Given the description of an element on the screen output the (x, y) to click on. 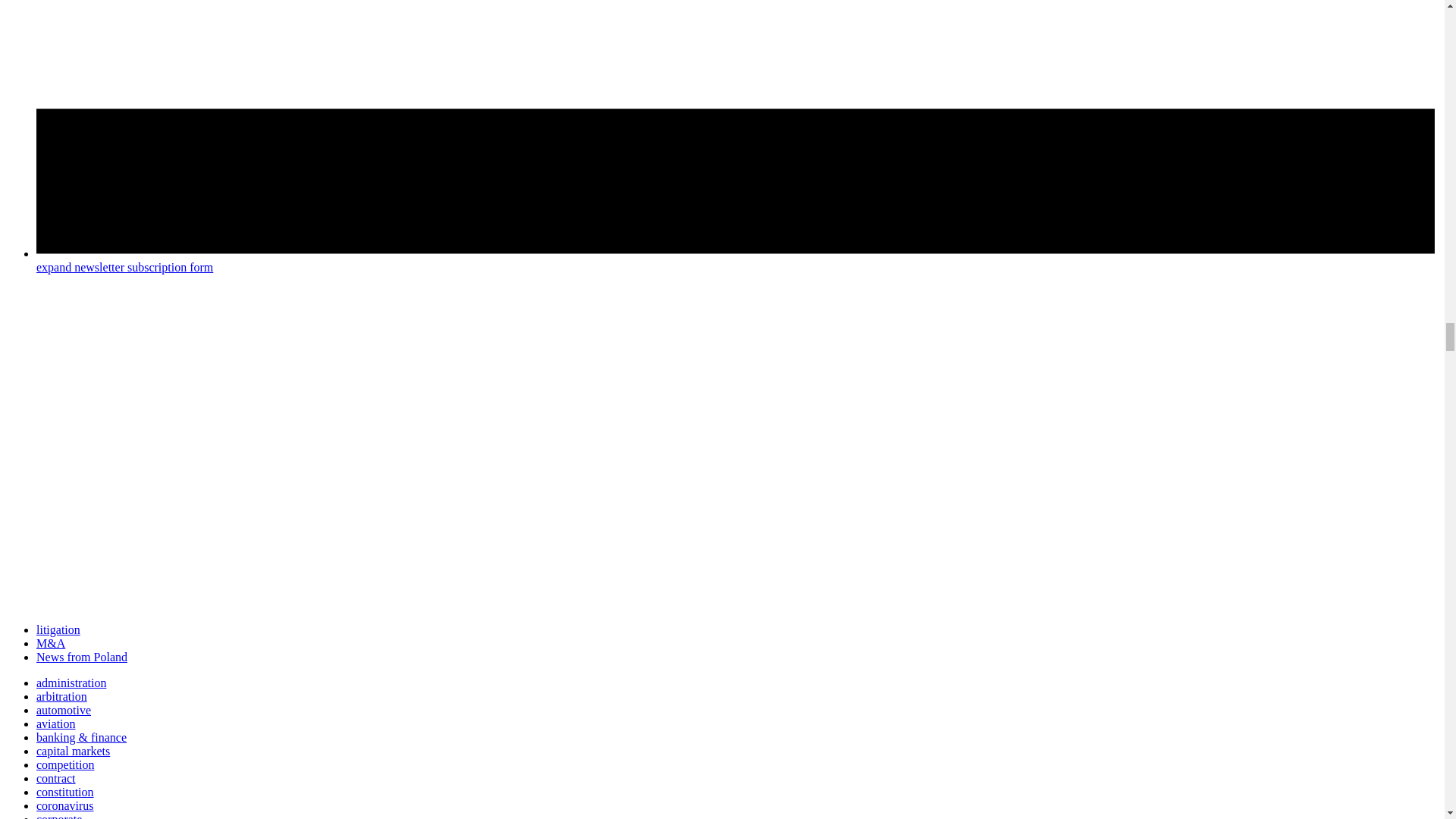
litigation (58, 629)
aviation (55, 723)
competition (65, 764)
capital markets (73, 750)
administration (71, 682)
News from Poland (82, 656)
contract (55, 778)
corporate (58, 816)
constitution (65, 791)
automotive (63, 709)
arbitration (61, 696)
coronavirus (65, 805)
